Given the description of an element on the screen output the (x, y) to click on. 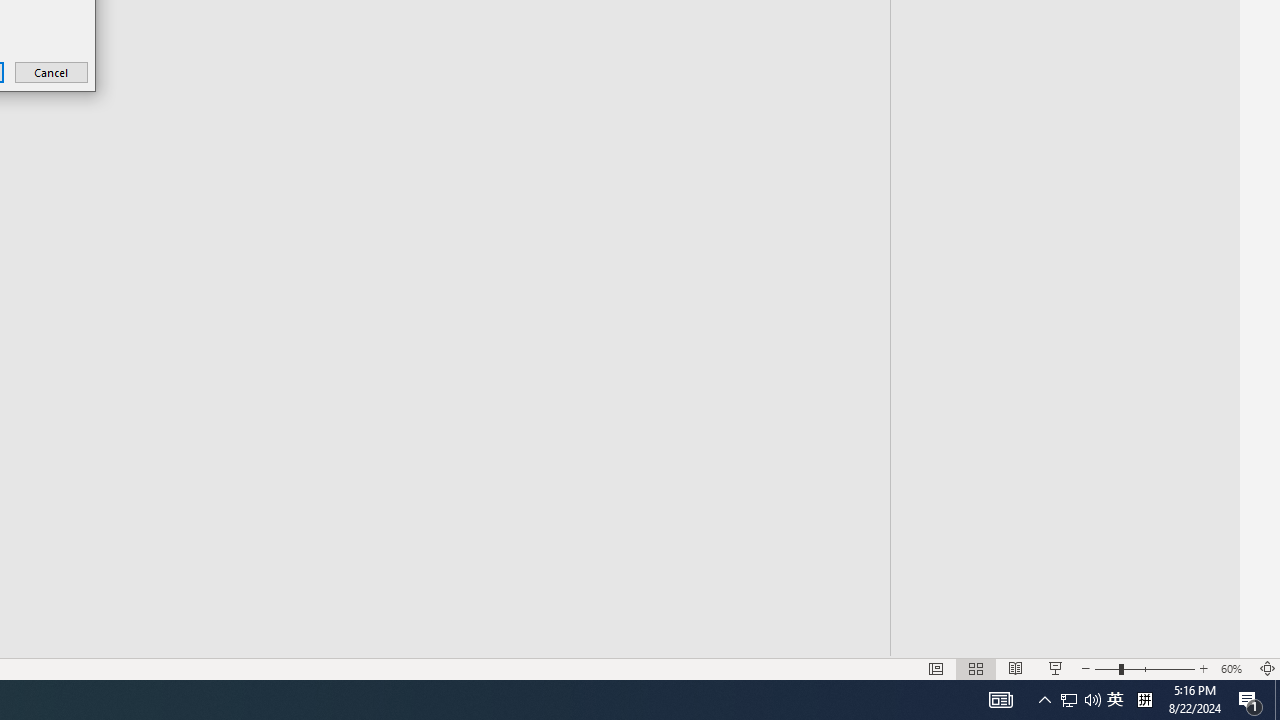
Action Center, 1 new notification (1250, 699)
Cancel (51, 72)
